Given the description of an element on the screen output the (x, y) to click on. 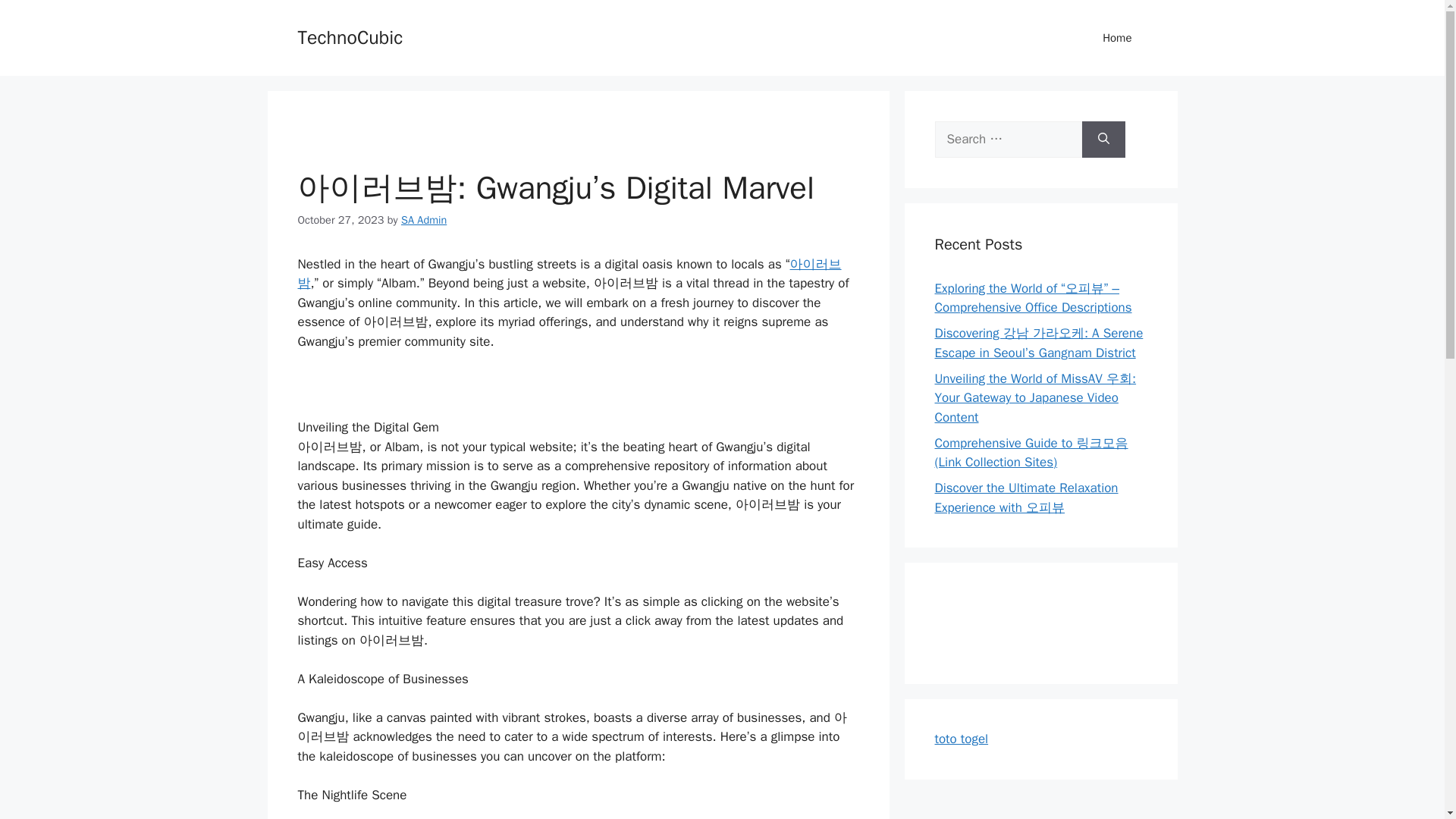
TechnoCubic (350, 37)
toto togel (961, 738)
View all posts by SA Admin (423, 219)
SA Admin (423, 219)
Search for: (1007, 139)
Home (1117, 37)
